Given the description of an element on the screen output the (x, y) to click on. 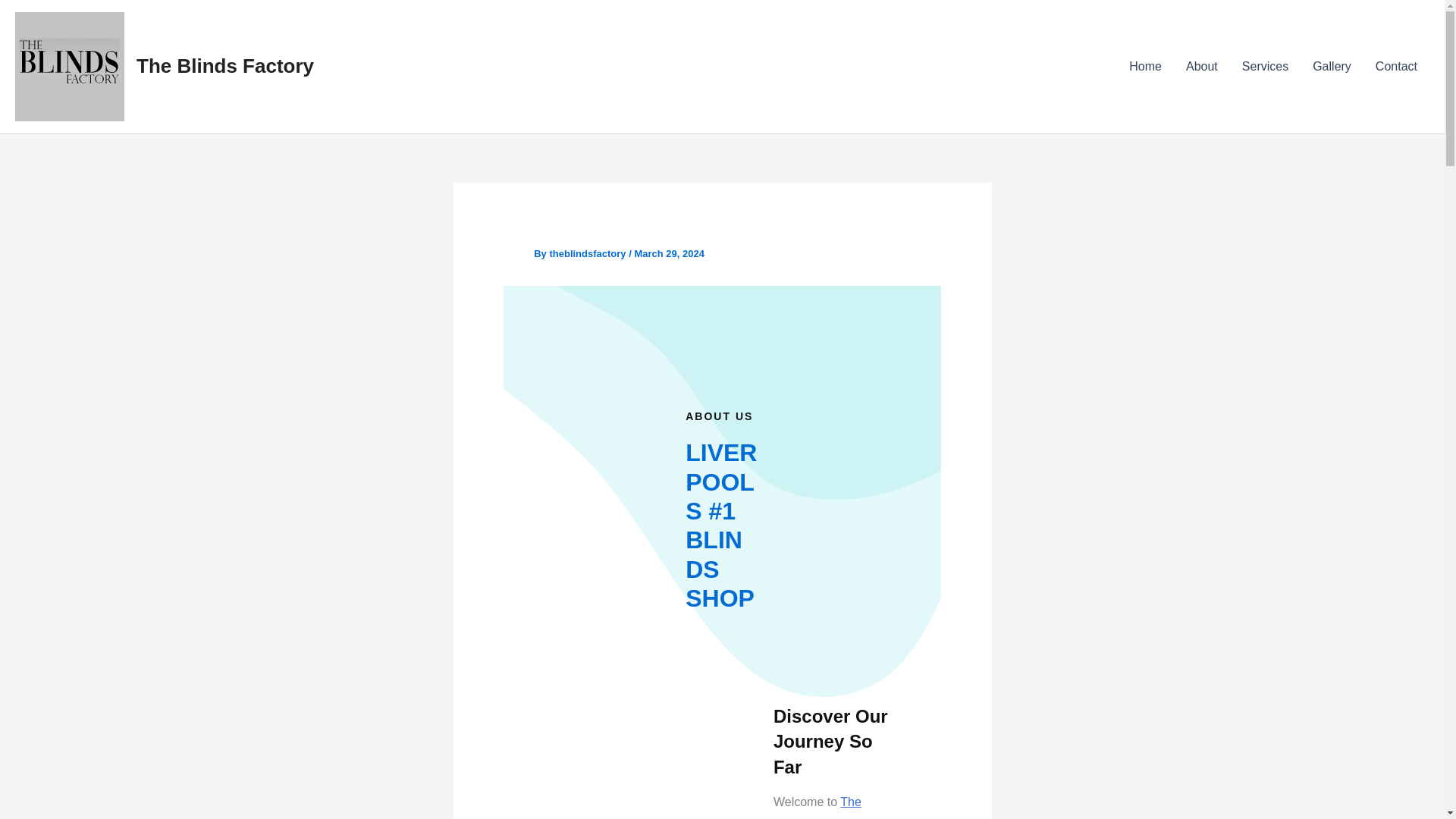
Gallery (1331, 66)
View all posts by theblindsfactory (588, 253)
About (1201, 66)
The Blinds Factory (225, 65)
Home (1144, 66)
Contact (1395, 66)
Services (1265, 66)
